Given the description of an element on the screen output the (x, y) to click on. 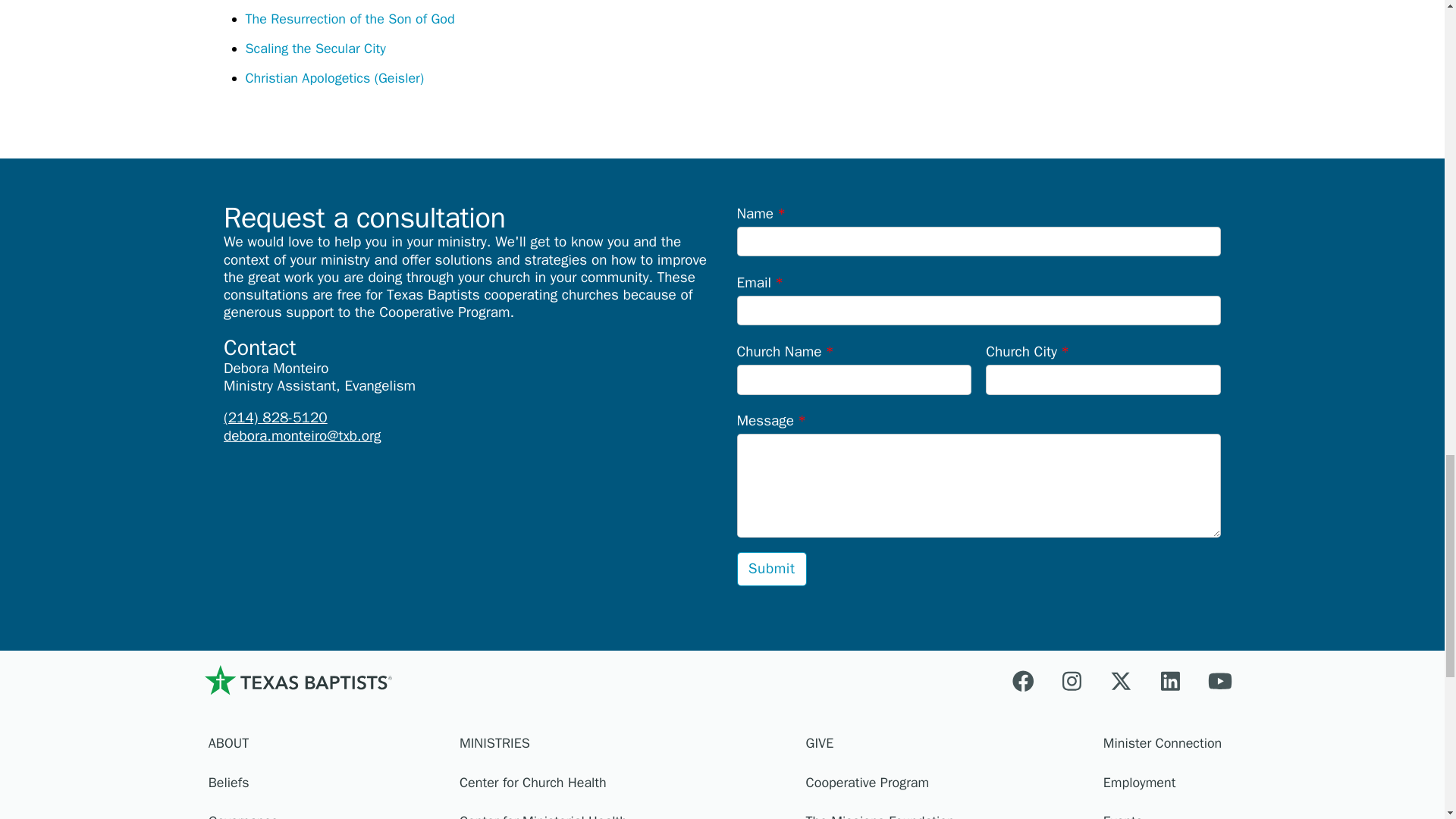
Home (297, 680)
